Given the description of an element on the screen output the (x, y) to click on. 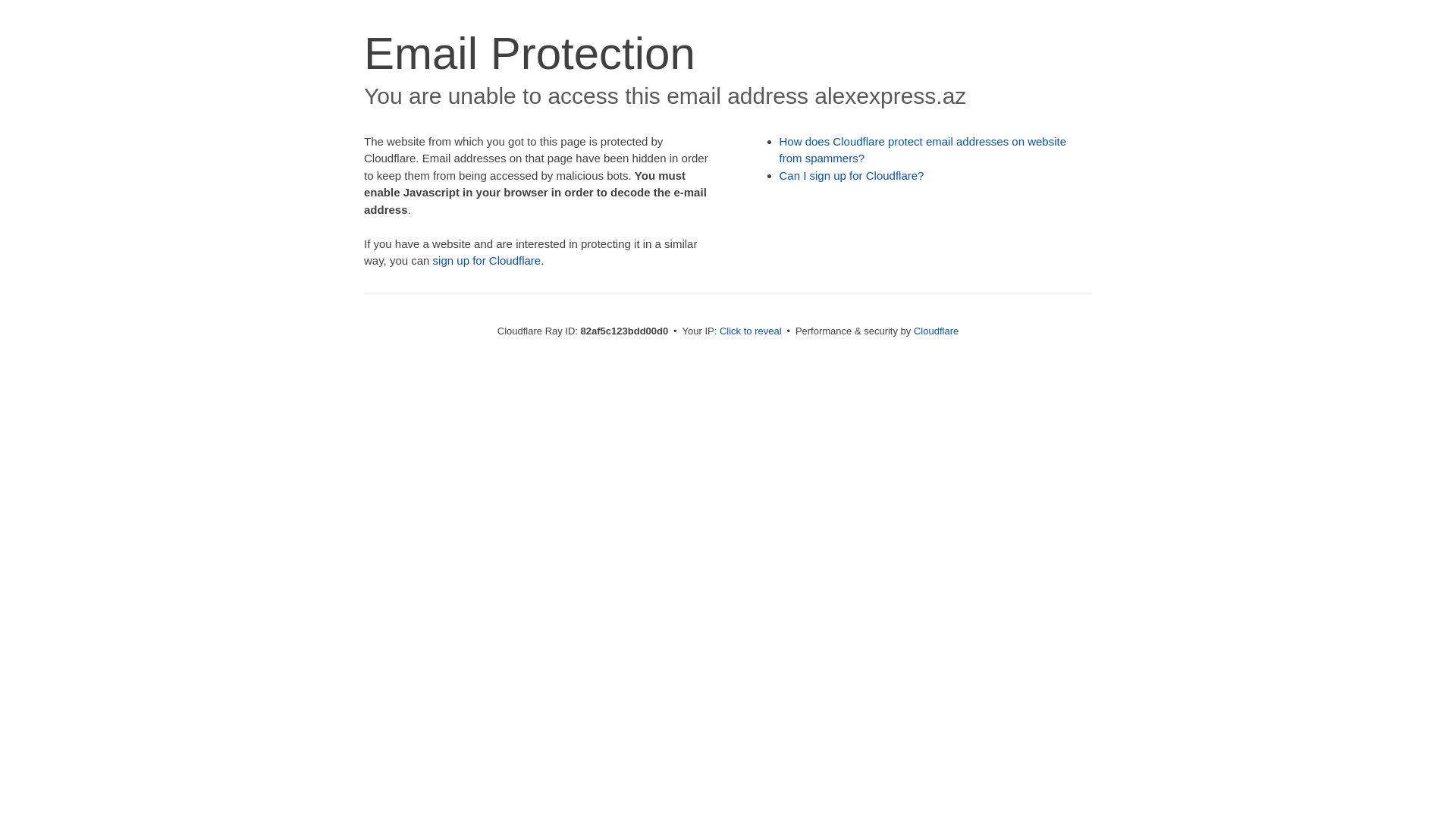
Cloudflare Element type: text (935, 330)
Can I sign up for Cloudflare? Element type: text (851, 175)
sign up for Cloudflare Element type: text (487, 260)
Click to reveal Element type: text (750, 330)
